Given the description of an element on the screen output the (x, y) to click on. 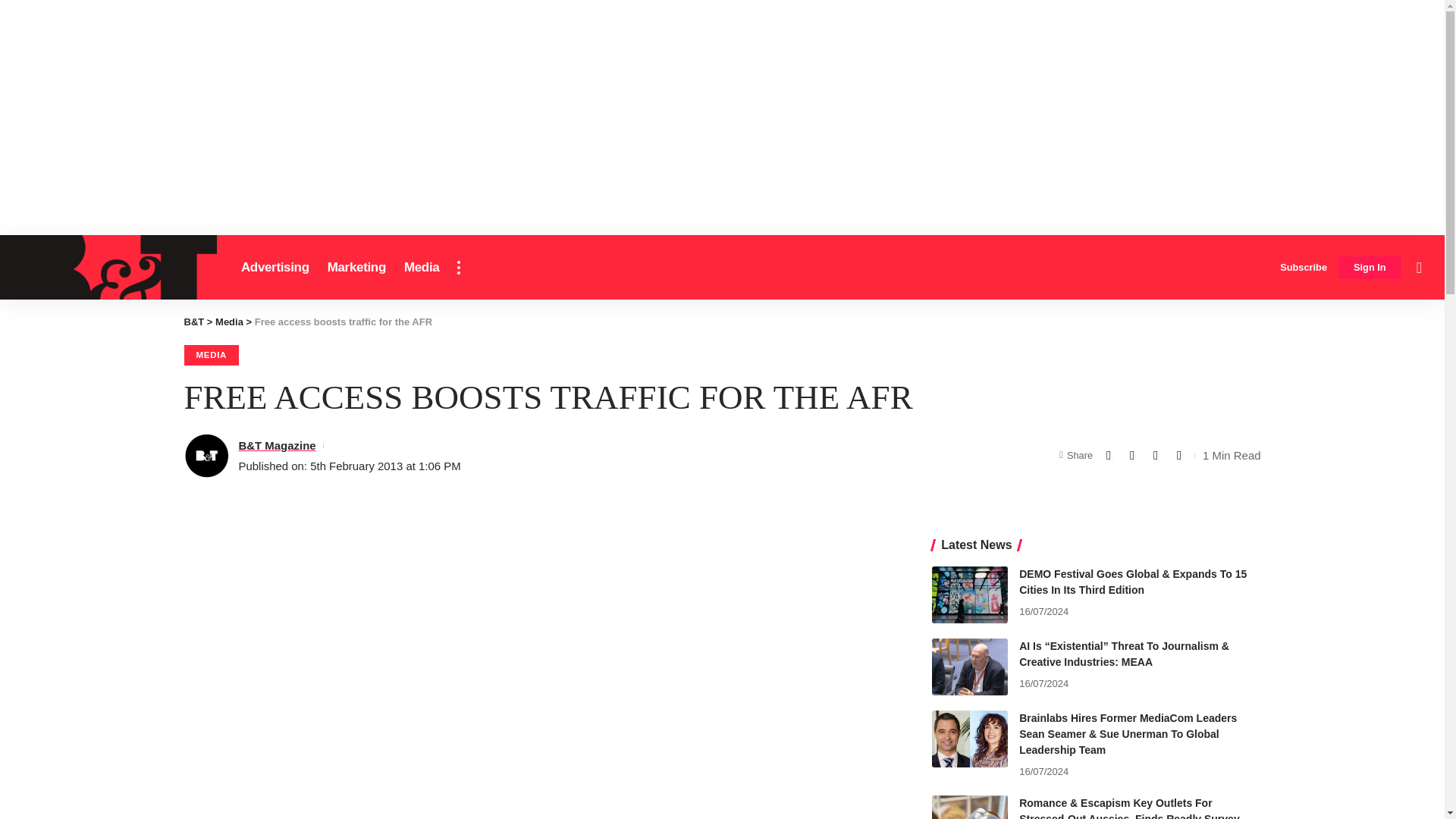
Sign In (1369, 267)
Marketing (356, 267)
Advertising (274, 267)
Go to the Media Category archives. (229, 321)
